Given the description of an element on the screen output the (x, y) to click on. 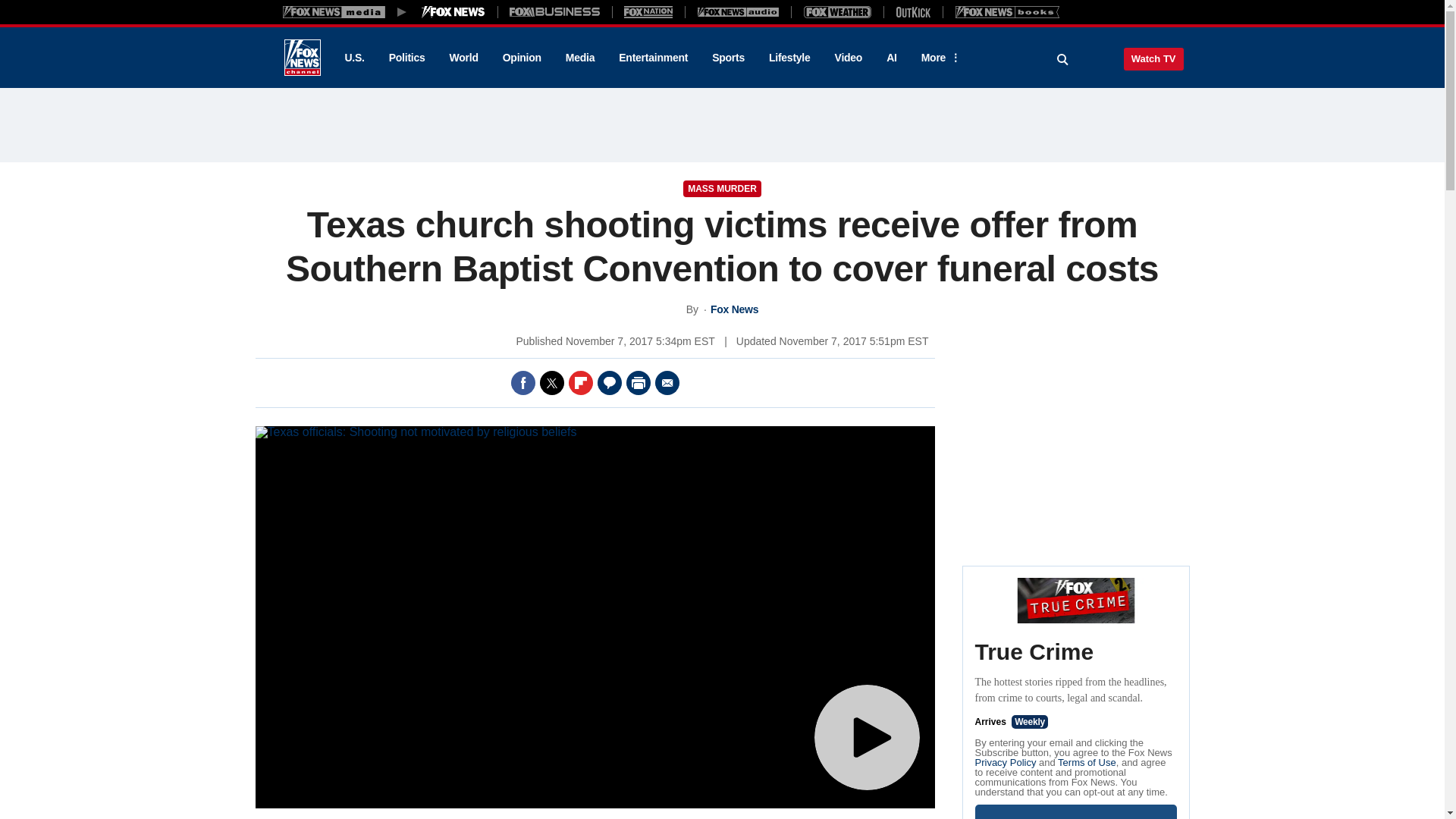
Fox News Audio (737, 11)
Opinion (521, 57)
AI (891, 57)
Outkick (912, 11)
Books (1007, 11)
Video (848, 57)
U.S. (353, 57)
Fox Nation (648, 11)
Media (580, 57)
Fox Business (554, 11)
